Given the description of an element on the screen output the (x, y) to click on. 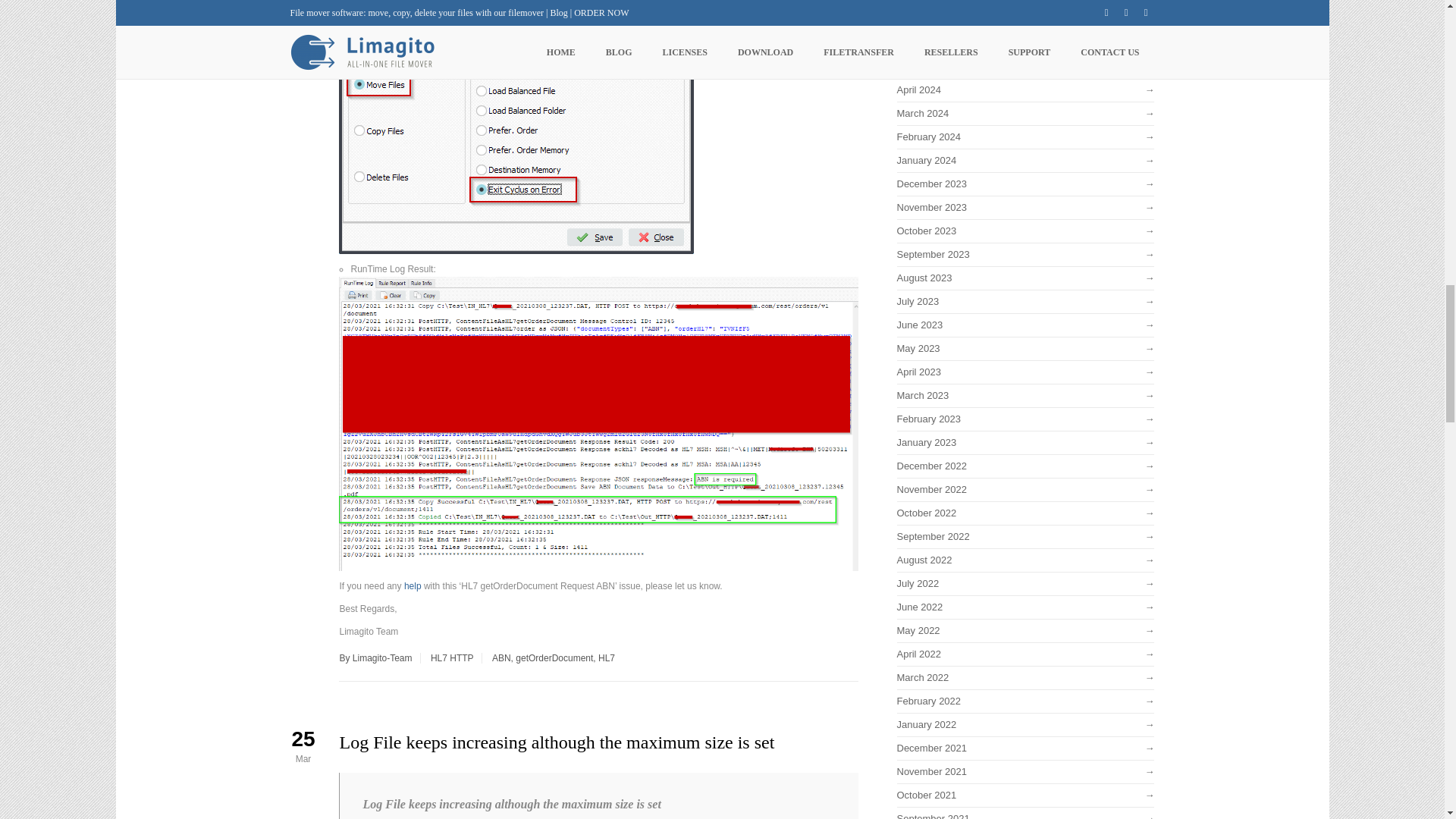
HTTP (461, 657)
Log File keeps increasing although the maximum size is set (556, 742)
getOrderDocument (553, 657)
HL7 (438, 657)
help (413, 585)
ABN (501, 657)
HL7 (606, 657)
